Given the description of an element on the screen output the (x, y) to click on. 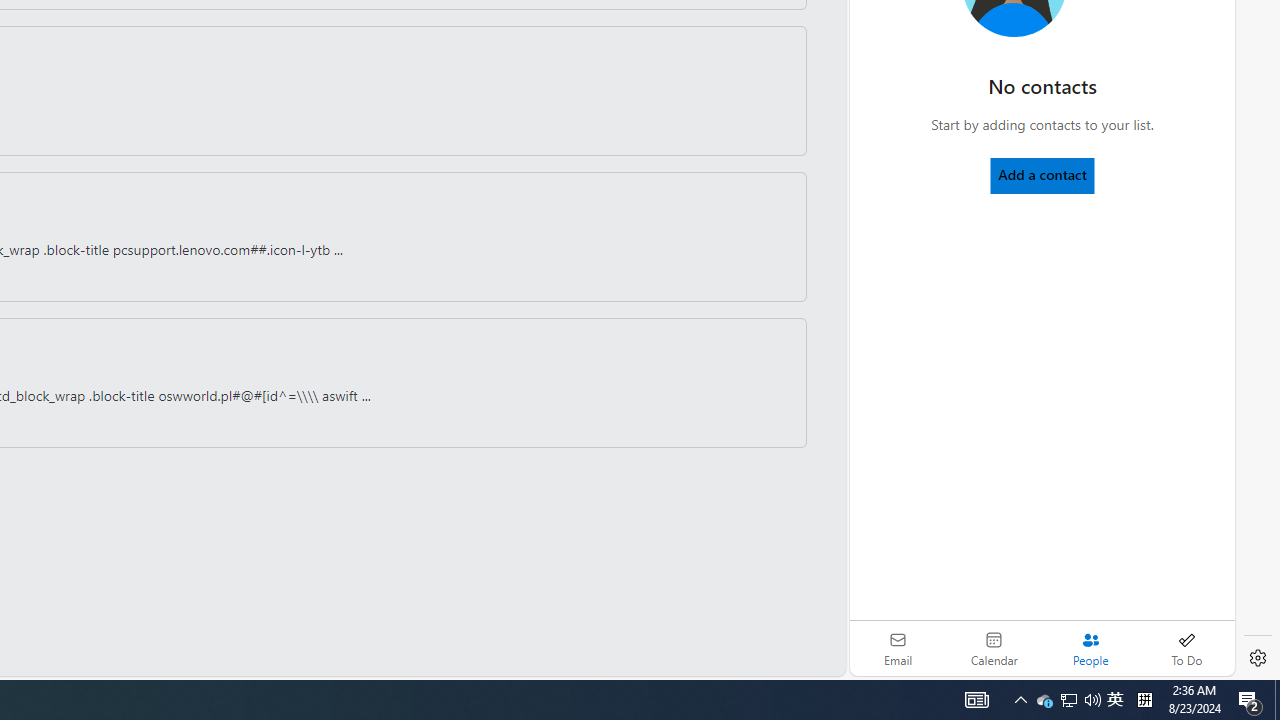
Selected people module (1090, 648)
Email (898, 648)
To Do (1186, 648)
Calendar. Date today is 22 (994, 648)
Add a contact (1041, 174)
